Given the description of an element on the screen output the (x, y) to click on. 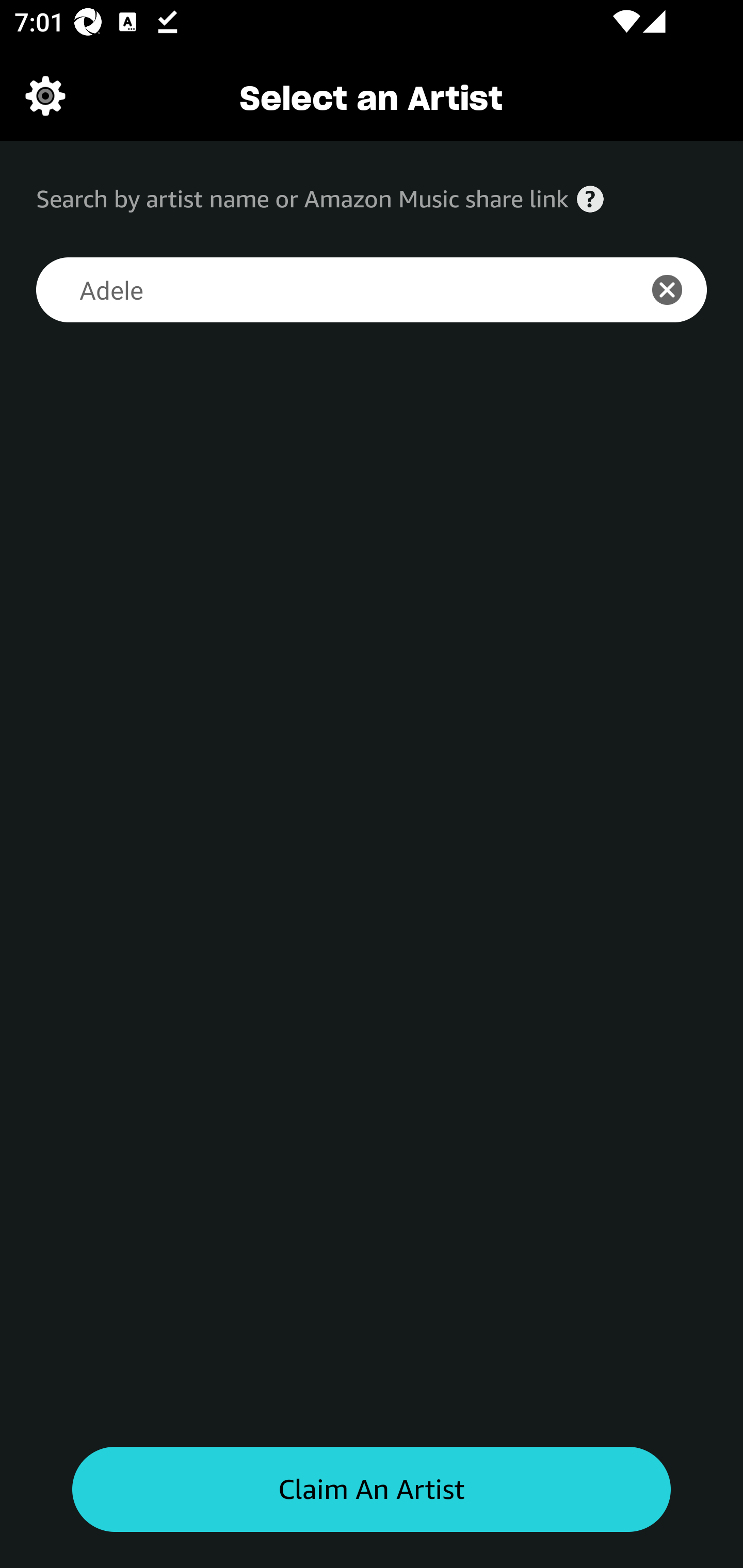
Help  icon (589, 199)
Adele Search for an artist search bar (324, 290)
 icon (677, 290)
Claim an artist button Claim An Artist (371, 1489)
